Given the description of an element on the screen output the (x, y) to click on. 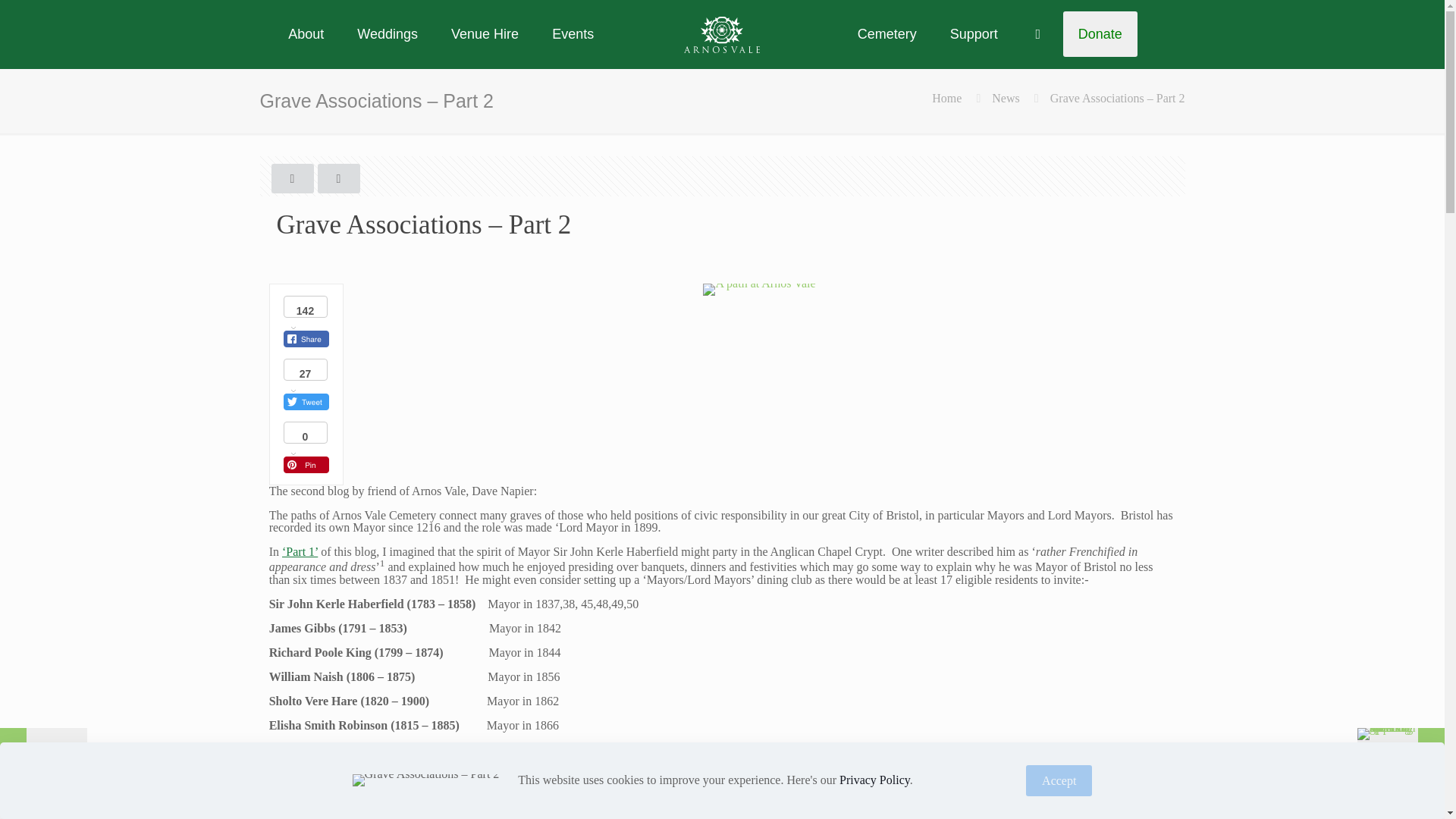
Events (572, 33)
Weddings (387, 33)
About (306, 33)
Arnos Vale (721, 33)
Venue Hire (484, 33)
Cemetery (887, 33)
